Given the description of an element on the screen output the (x, y) to click on. 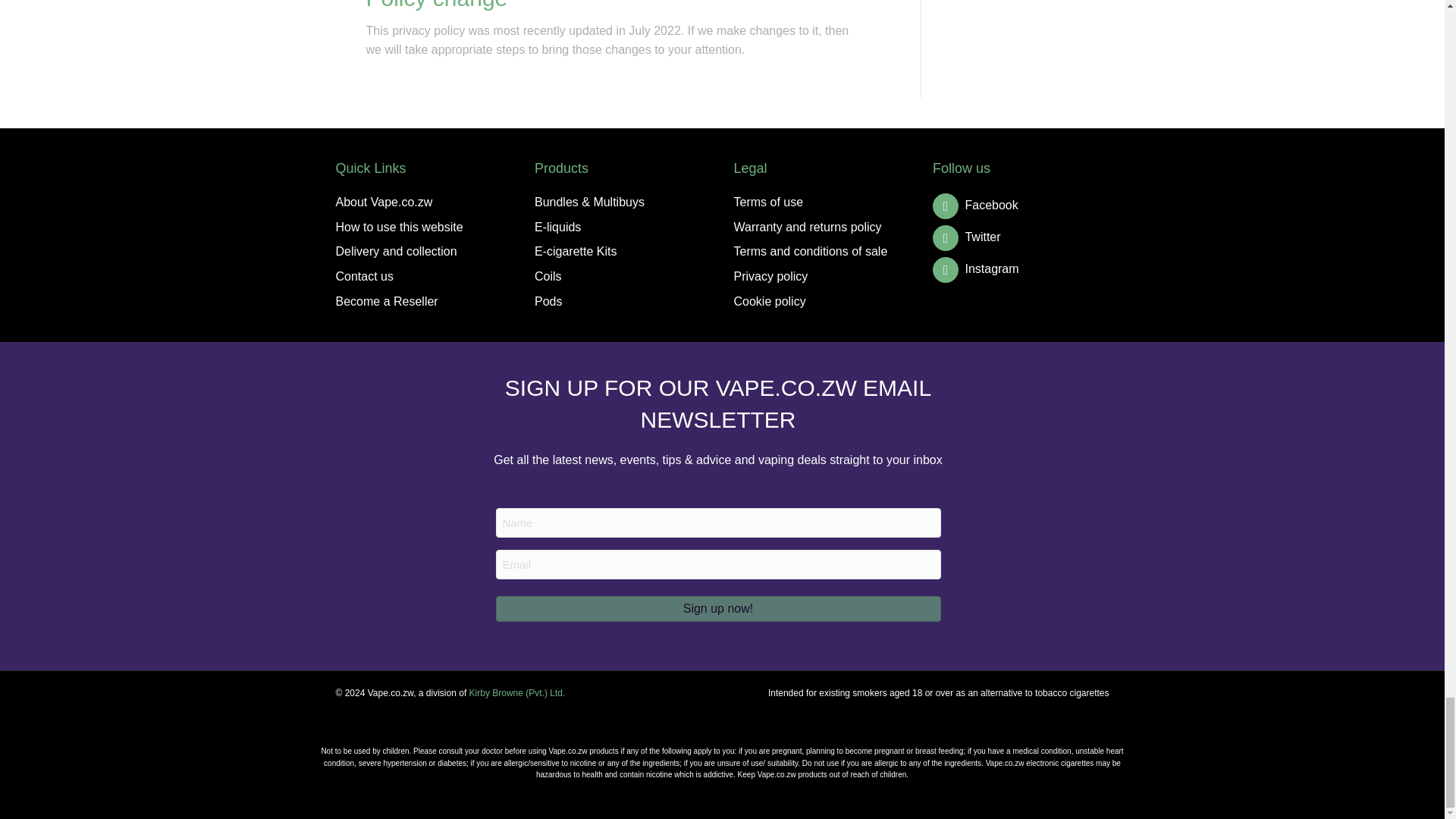
Facebook (975, 205)
Sign up now! (718, 608)
Instagram (976, 268)
Twitter (967, 236)
